Given the description of an element on the screen output the (x, y) to click on. 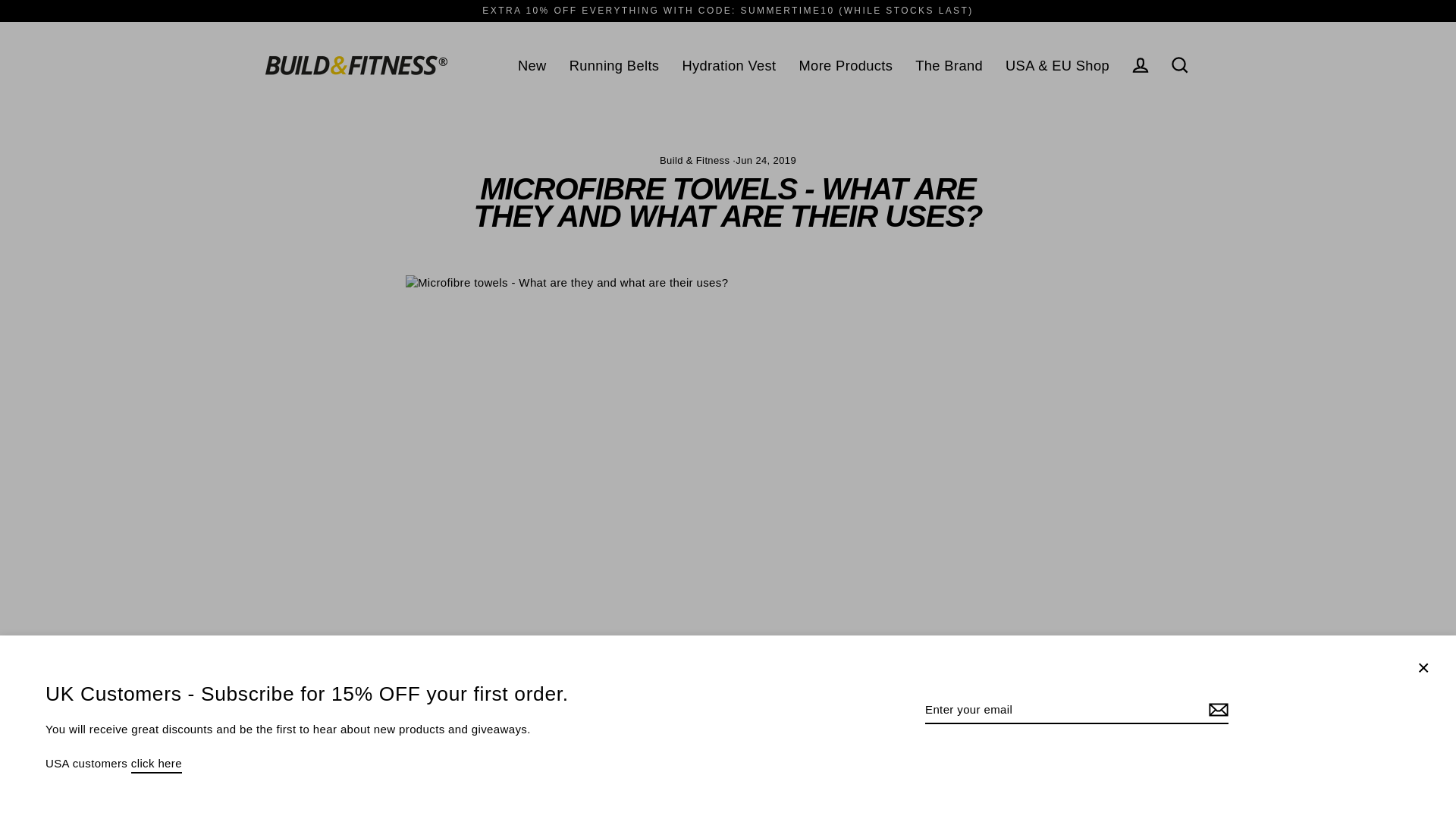
Running Belts (614, 65)
New (531, 65)
